Given the description of an element on the screen output the (x, y) to click on. 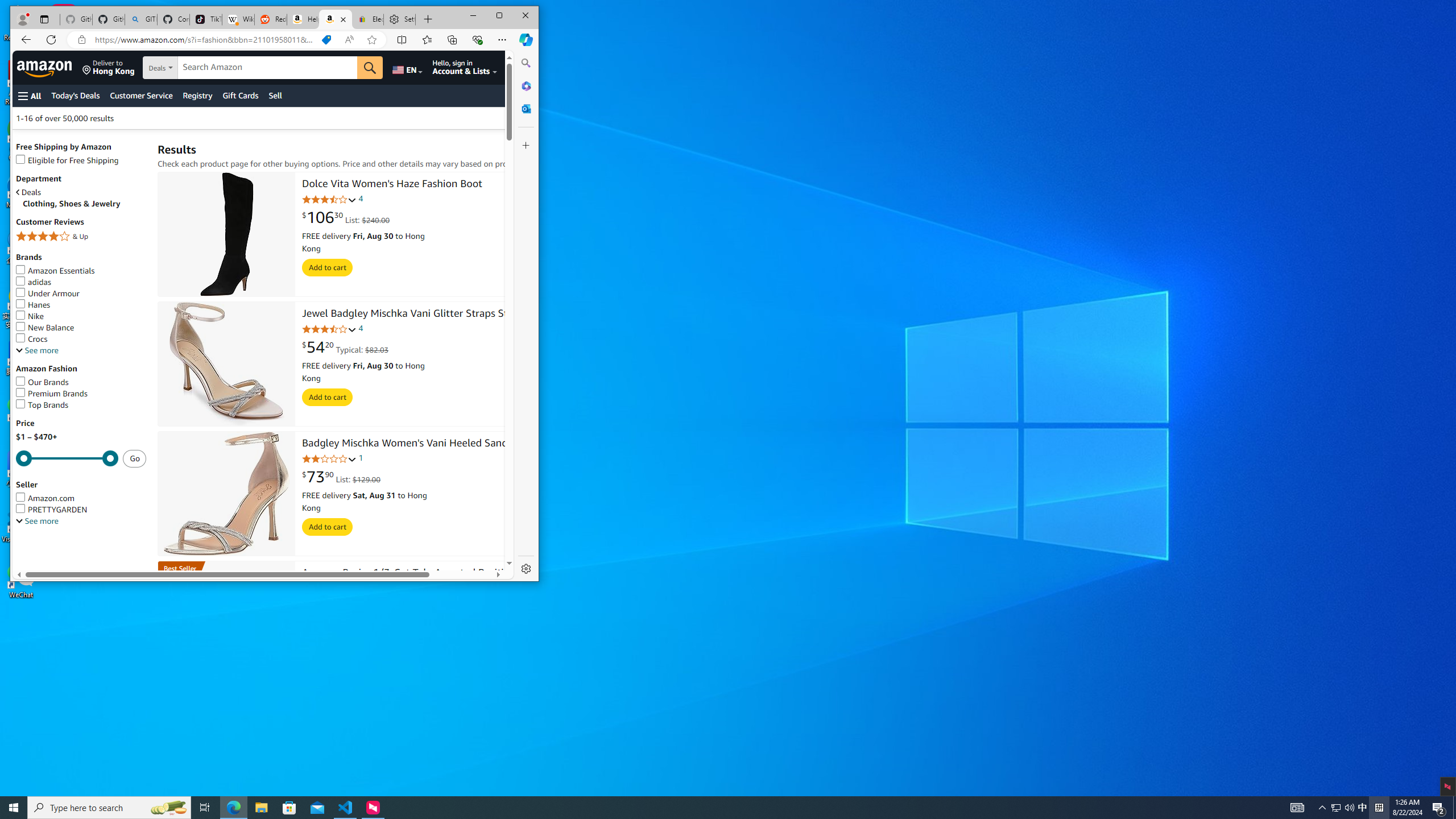
Returns & Orders (524, 67)
Tray Input Indicator - Chinese (Simplified, China) (1378, 807)
Deliver to Hong Kong (108, 67)
Amazon.com (80, 498)
Q2790: 100% (1349, 807)
$106.30 List: $240.00 (345, 217)
Go - Submit price range (134, 457)
Amazon (45, 67)
Visual Studio Code - 1 running window (345, 807)
adidas (33, 281)
